Given the description of an element on the screen output the (x, y) to click on. 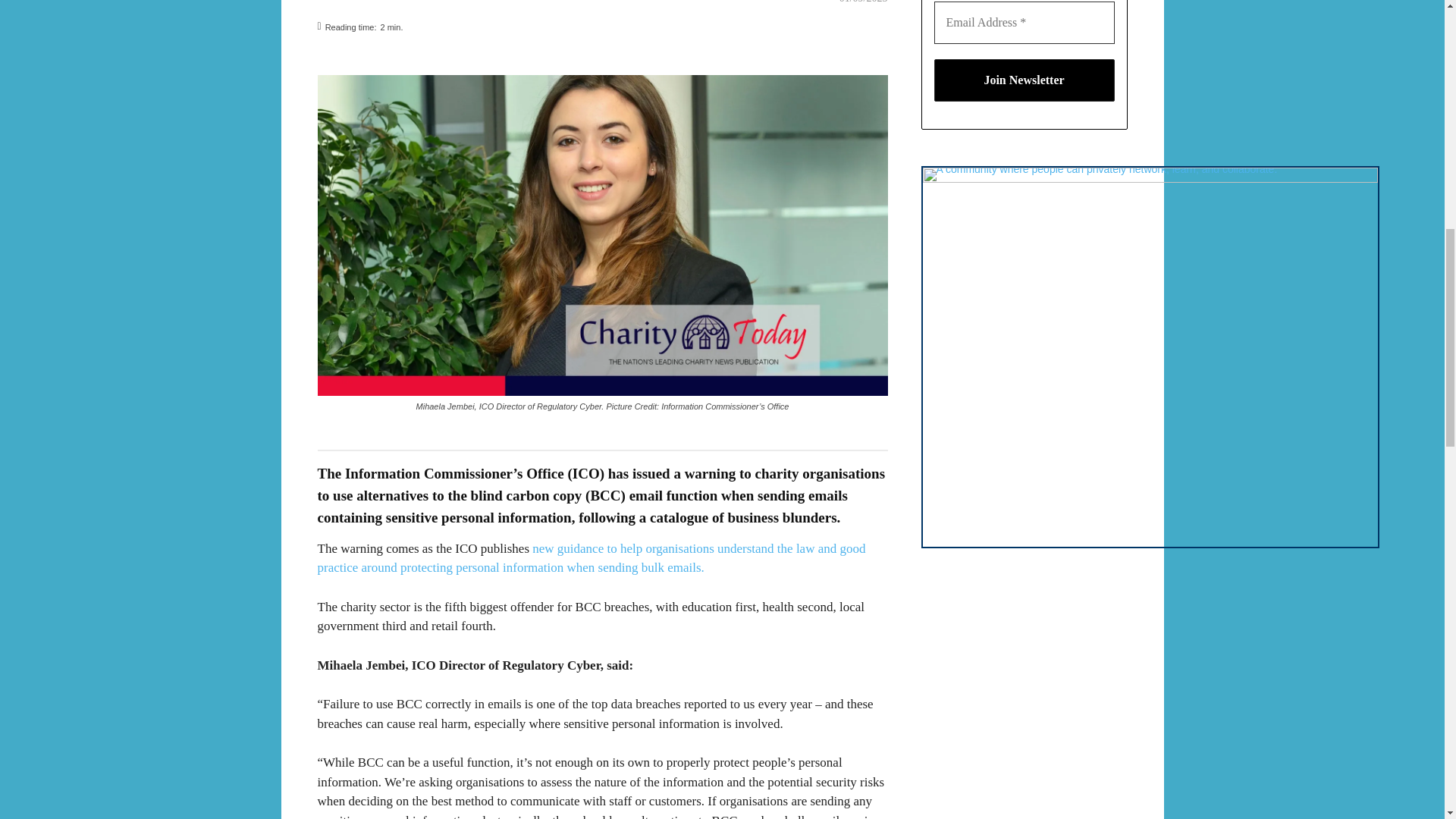
Join Newsletter (1024, 79)
